Given the description of an element on the screen output the (x, y) to click on. 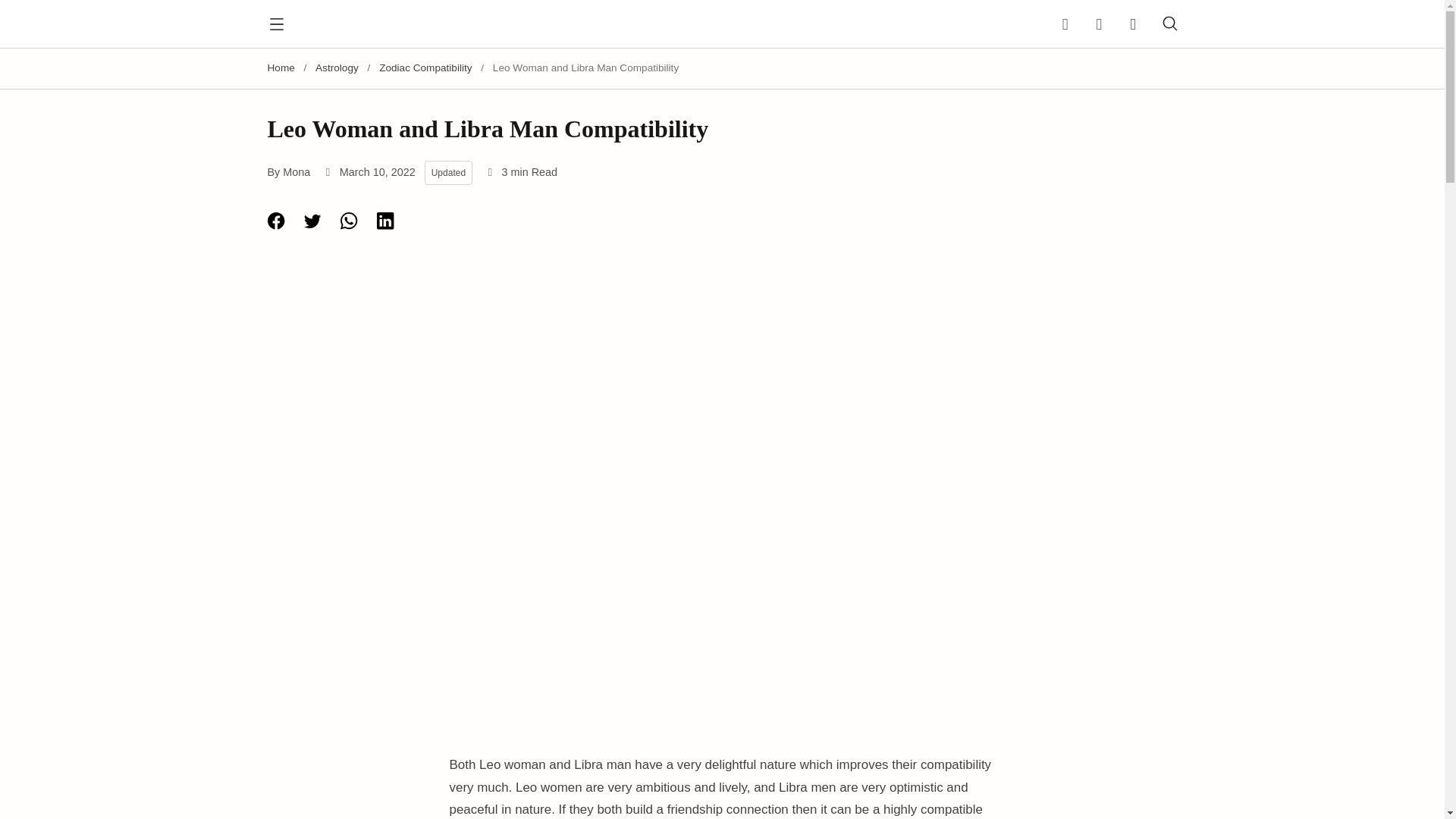
Zodiac Compatibility (424, 67)
VedicFeed on Instagram (1098, 24)
Mona (296, 172)
VedicFeed on Facebook (1069, 24)
Home (280, 67)
Astrology (336, 67)
VedicFeed on Twitter (1128, 24)
